Given the description of an element on the screen output the (x, y) to click on. 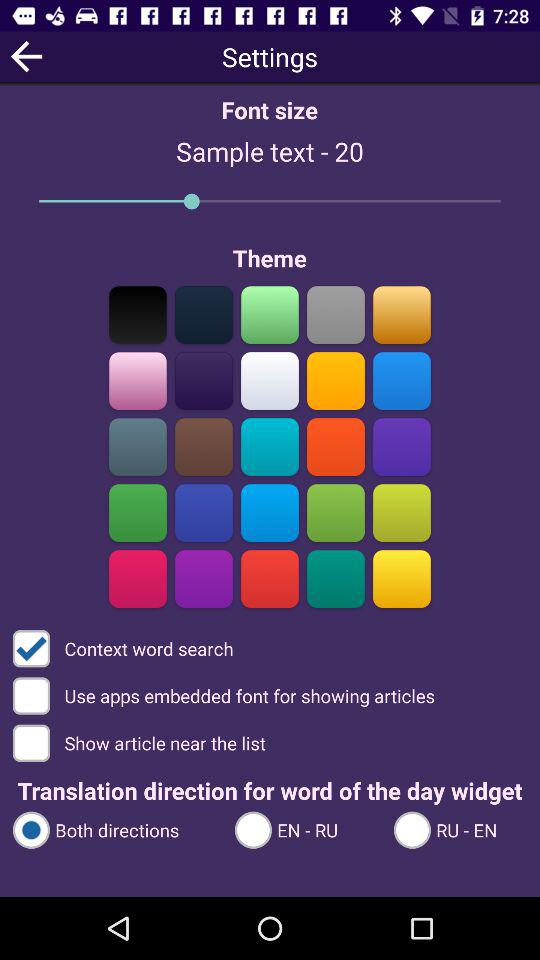
select green color (269, 314)
